Given the description of an element on the screen output the (x, y) to click on. 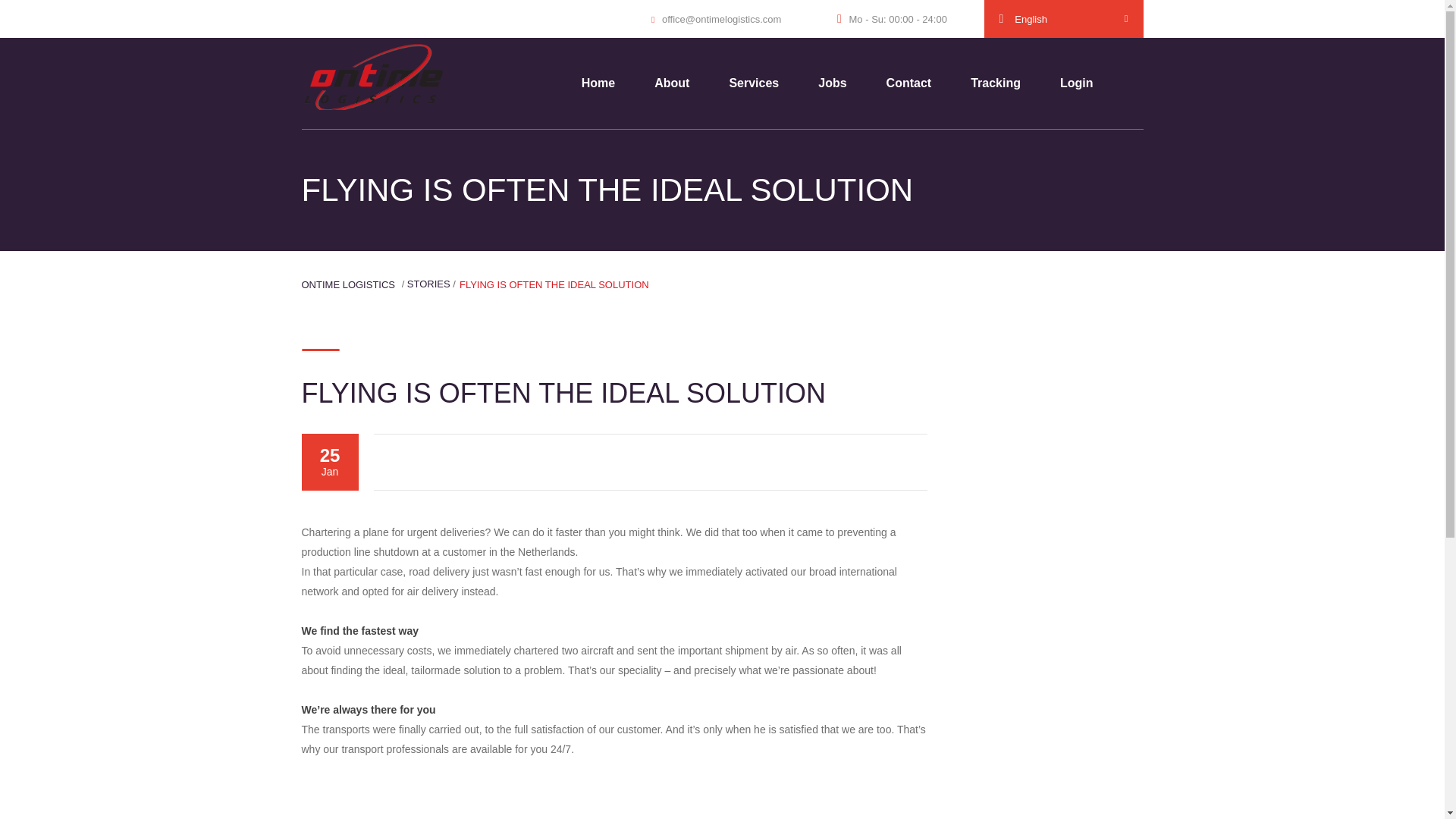
STORIES (428, 283)
ONTIME LOGISTICS (348, 284)
